Given the description of an element on the screen output the (x, y) to click on. 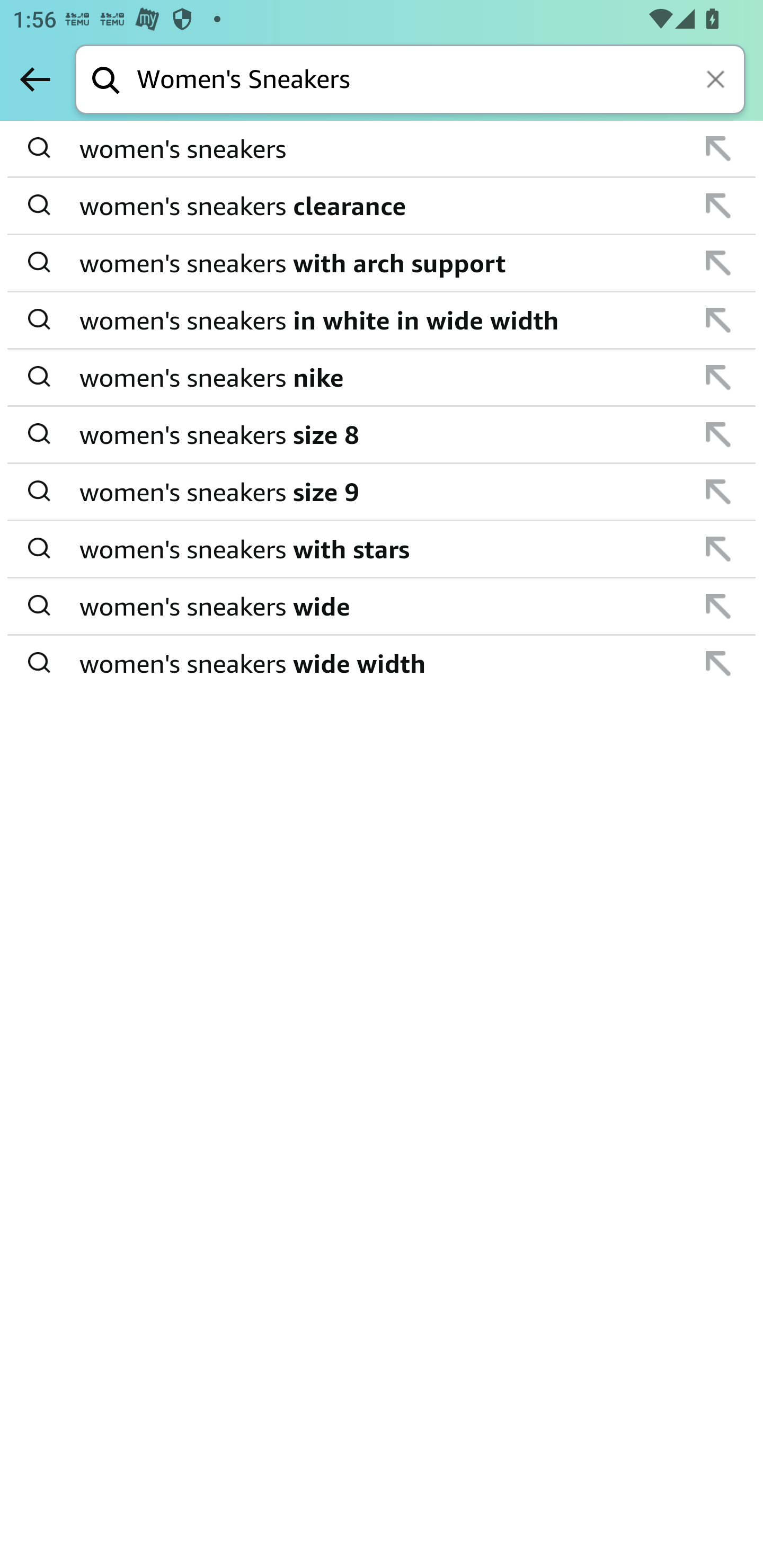
Women's Sneakers (440, 80)
Clear search keywords (717, 80)
Back (35, 78)
append suggestion women's sneakers (381, 149)
women's sneakers (382, 149)
append suggestion (718, 147)
women's sneakers clearance (382, 205)
append suggestion women's sneakers clearance (381, 206)
append suggestion (718, 205)
women's sneakers with arch support (382, 262)
append suggestion (718, 262)
women's sneakers in white in wide width (382, 319)
append suggestion (718, 319)
women's sneakers nike (382, 377)
append suggestion women's sneakers nike (381, 377)
append suggestion (718, 376)
women's sneakers size 8 (382, 434)
append suggestion women's sneakers size 8 (381, 435)
append suggestion (718, 434)
women's sneakers size 9 (382, 491)
append suggestion women's sneakers size 9 (381, 492)
append suggestion (718, 491)
women's sneakers with stars (382, 548)
append suggestion women's sneakers with stars (381, 549)
append suggestion (718, 548)
women's sneakers wide (382, 606)
append suggestion women's sneakers wide (381, 606)
append suggestion (718, 605)
women's sneakers wide width (382, 662)
append suggestion women's sneakers wide width (381, 663)
append suggestion (718, 663)
